Given the description of an element on the screen output the (x, y) to click on. 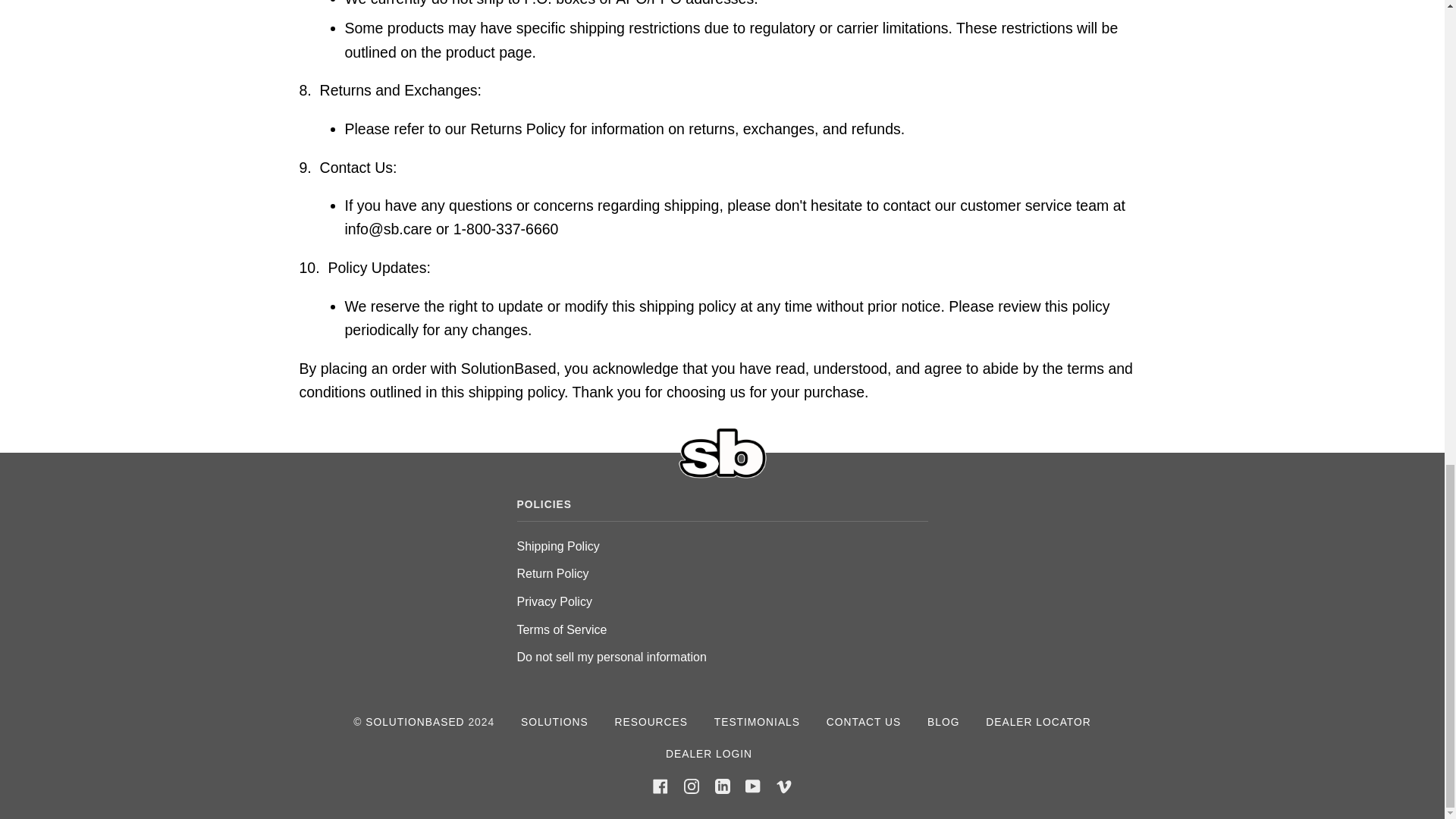
Facebook (660, 785)
Instagram (691, 785)
Linkedin (721, 785)
Vimeo (784, 785)
YouTube (752, 785)
